Given the description of an element on the screen output the (x, y) to click on. 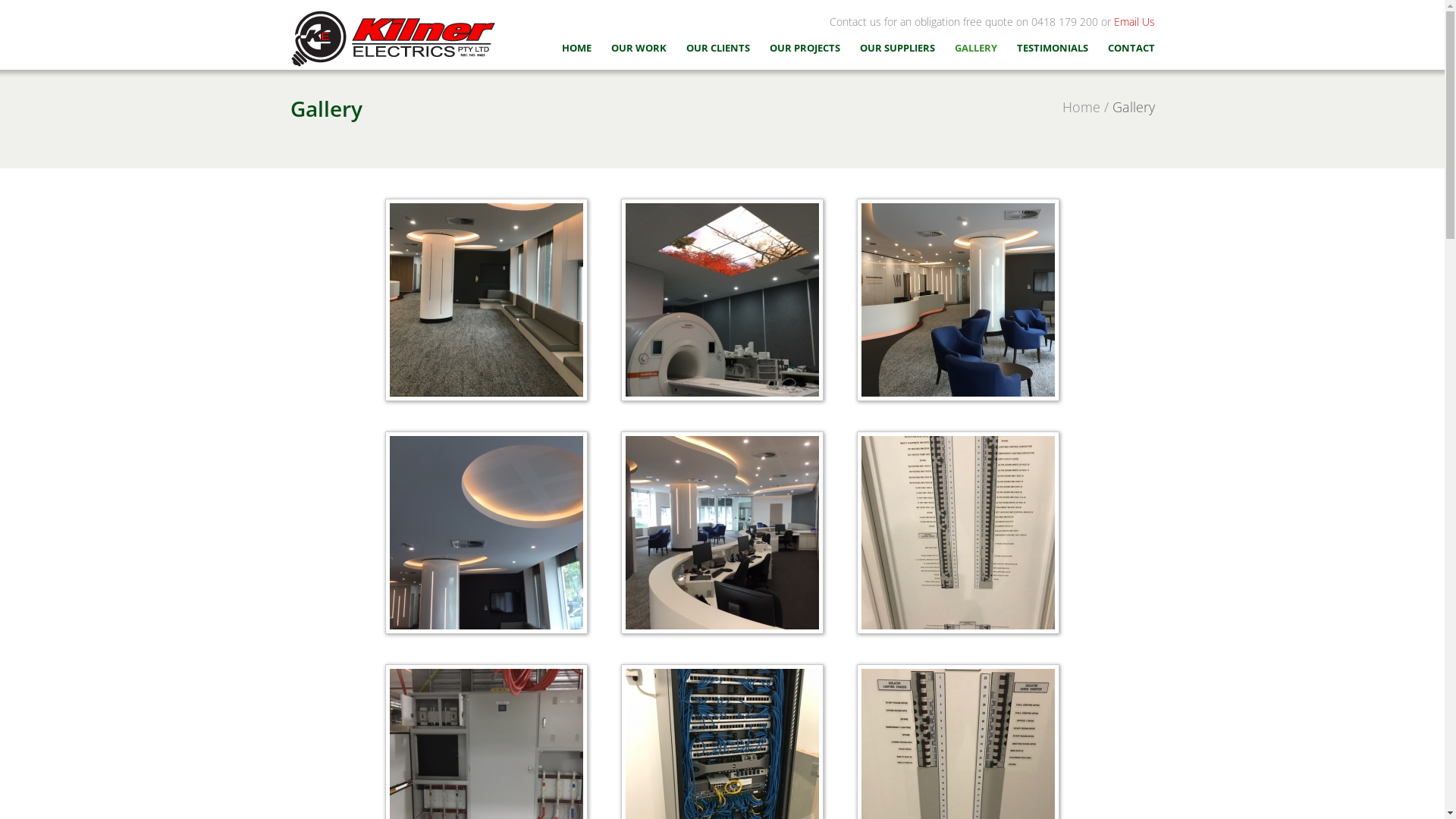
OUR SUPPLIERS Element type: text (897, 47)
IMG_1877.jpg Element type: hover (957, 299)
IMG_6966_1.jpg Element type: hover (957, 532)
OUR WORK Element type: text (638, 47)
IMG_1881.jpg Element type: hover (486, 532)
Home Element type: text (1080, 106)
IMG_1893.jpg Element type: hover (722, 299)
TESTIMONIALS Element type: text (1051, 47)
HOME Element type: text (575, 47)
GALLERY Element type: text (974, 47)
Email Us Element type: text (1133, 21)
IMG_6862_1.jpg Element type: hover (486, 299)
Gallery Element type: text (1132, 106)
OUR PROJECTS Element type: text (803, 47)
CONTACT Element type: text (1130, 47)
IMG_1885.jpg Element type: hover (722, 532)
OUR CLIENTS Element type: text (717, 47)
